Given the description of an element on the screen output the (x, y) to click on. 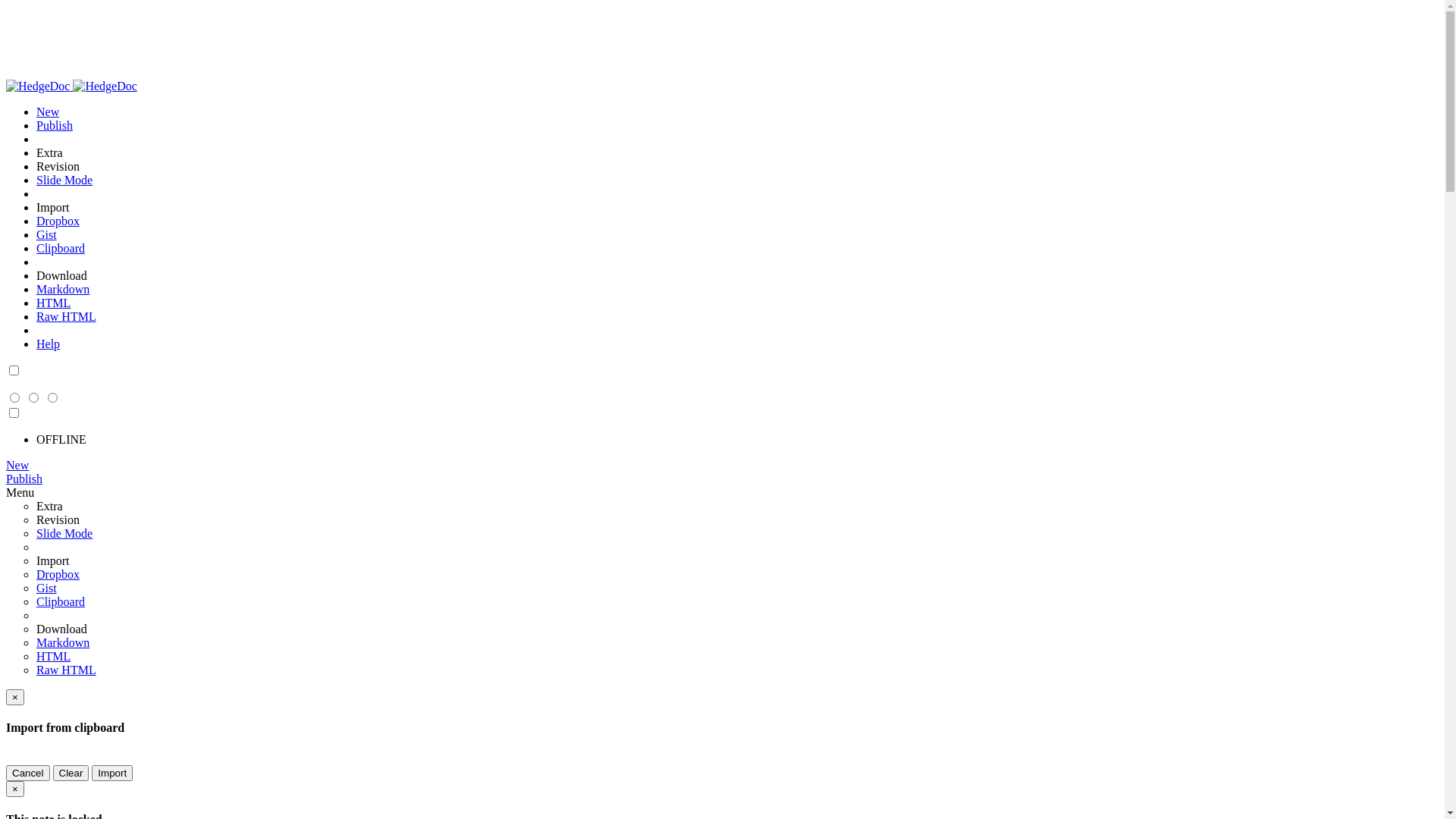
Markdown Element type: text (62, 288)
Clipboard Element type: text (60, 247)
Markdown Element type: text (62, 642)
Gist Element type: text (46, 587)
New Element type: text (17, 464)
Raw HTML Element type: text (66, 669)
Clipboard Element type: text (60, 601)
Help Element type: text (47, 343)
Publish Element type: text (54, 125)
Clear Element type: text (71, 773)
OFFLINE Element type: text (61, 439)
Revision Element type: text (57, 166)
Slide Mode Element type: text (64, 179)
New Element type: text (47, 111)
Night Theme Element type: hover (13, 370)
Edit (Ctrl+Alt+E) Element type: hover (51, 398)
Gist Element type: text (46, 234)
Dropbox Element type: text (57, 220)
HedgeDoc Element type: hover (71, 85)
Publish Element type: text (24, 478)
Night Theme Element type: hover (13, 413)
Revision Element type: text (57, 519)
Cancel Element type: text (28, 773)
Raw HTML Element type: text (66, 316)
Import Element type: text (111, 773)
Slide Mode Element type: text (64, 533)
Both (Ctrl+Alt+B) Element type: hover (34, 398)
Menu Element type: text (20, 492)
Dropbox Element type: text (57, 573)
HTML Element type: text (53, 655)
View (Ctrl+Alt+V) Element type: hover (15, 398)
HTML Element type: text (53, 302)
